Given the description of an element on the screen output the (x, y) to click on. 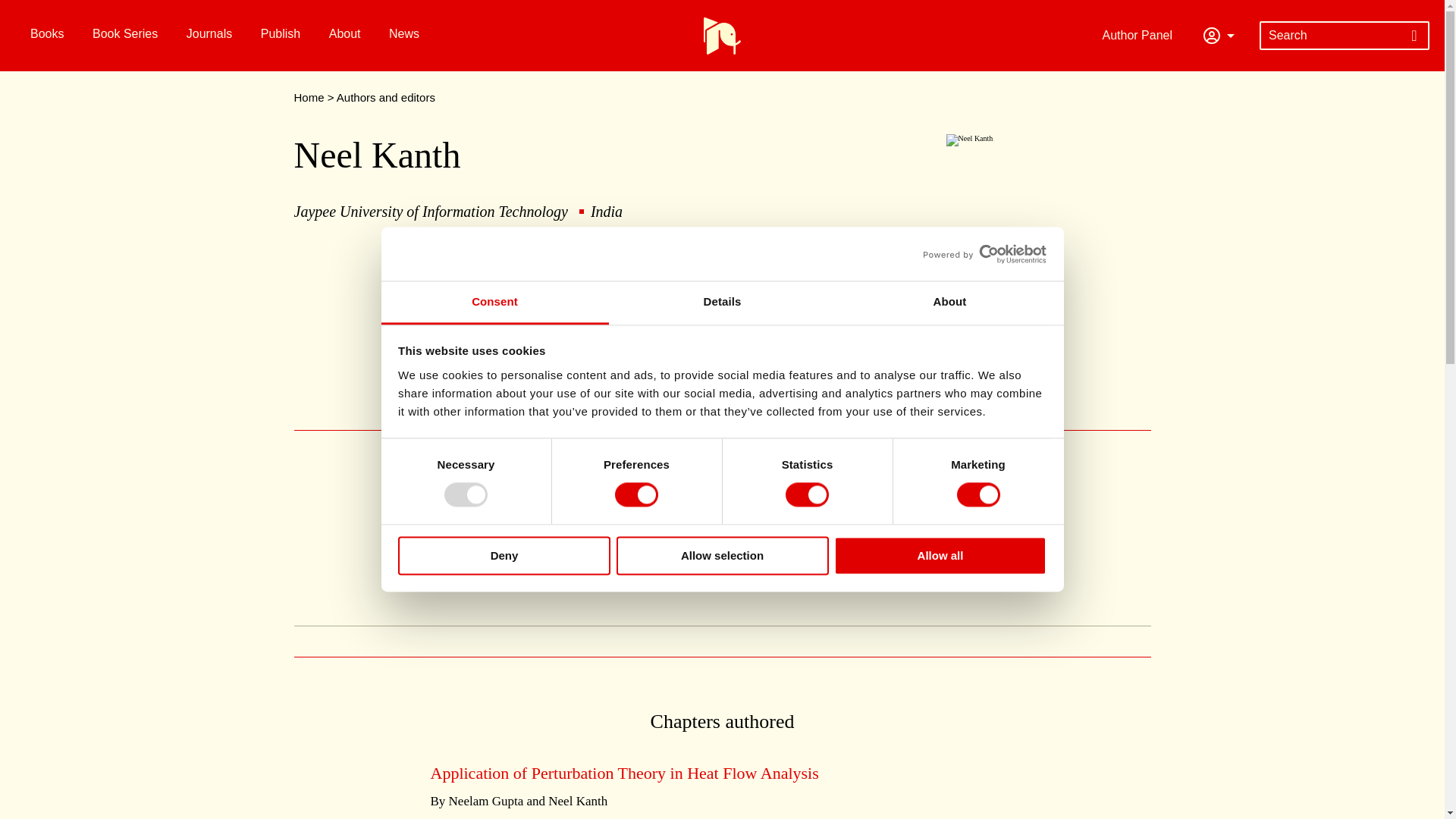
Consent (494, 302)
Details (721, 302)
About (948, 302)
